Given the description of an element on the screen output the (x, y) to click on. 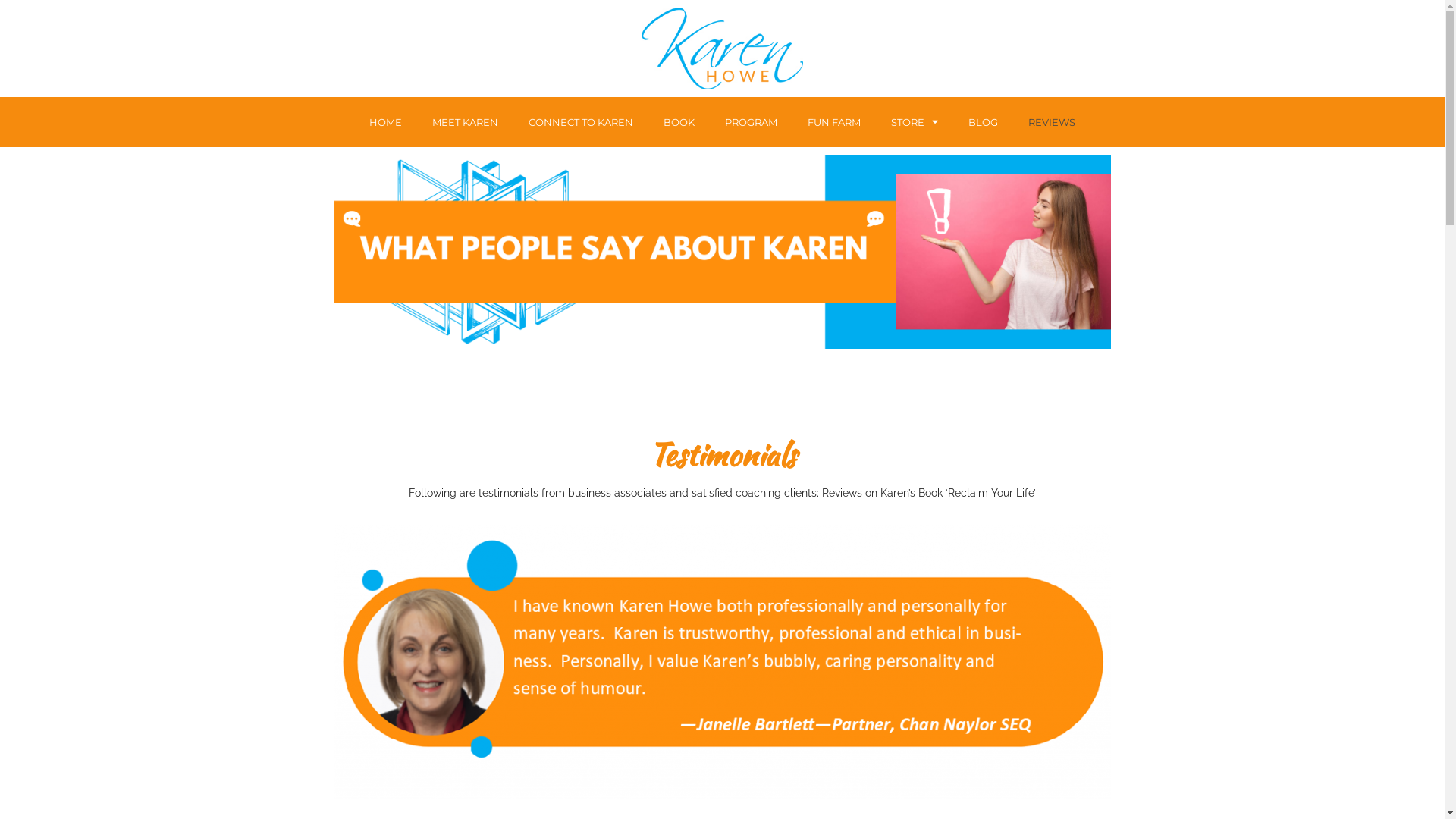
HOME Element type: text (385, 121)
CONNECT TO KAREN Element type: text (580, 121)
REVIEWS Element type: text (1051, 121)
STORE Element type: text (914, 121)
FUN FARM Element type: text (833, 121)
PROGRAM Element type: text (750, 121)
BLOG Element type: text (983, 121)
MEET KAREN Element type: text (465, 121)
BOOK Element type: text (678, 121)
